Given the description of an element on the screen output the (x, y) to click on. 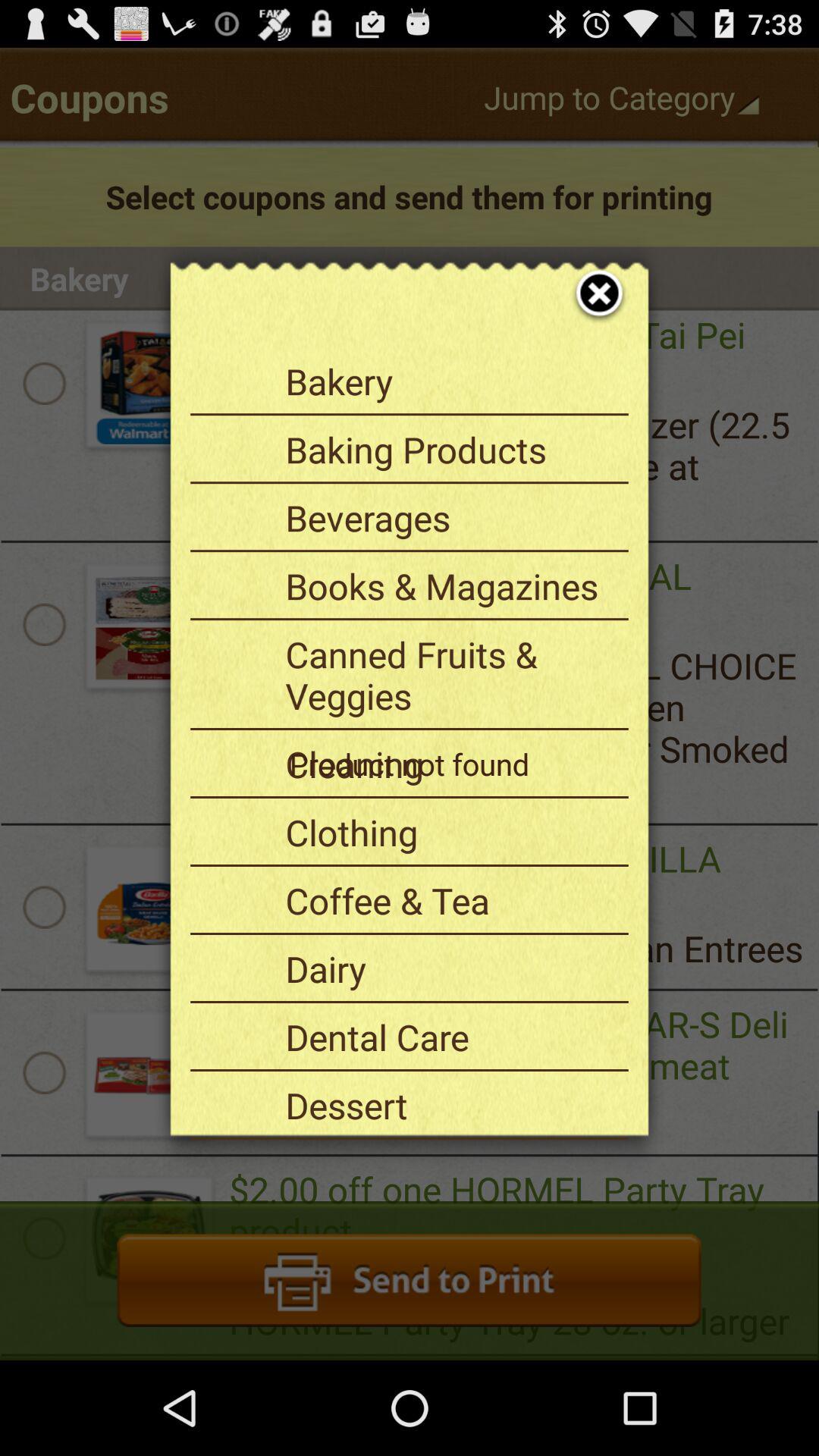
flip to books & magazines item (451, 585)
